Given the description of an element on the screen output the (x, y) to click on. 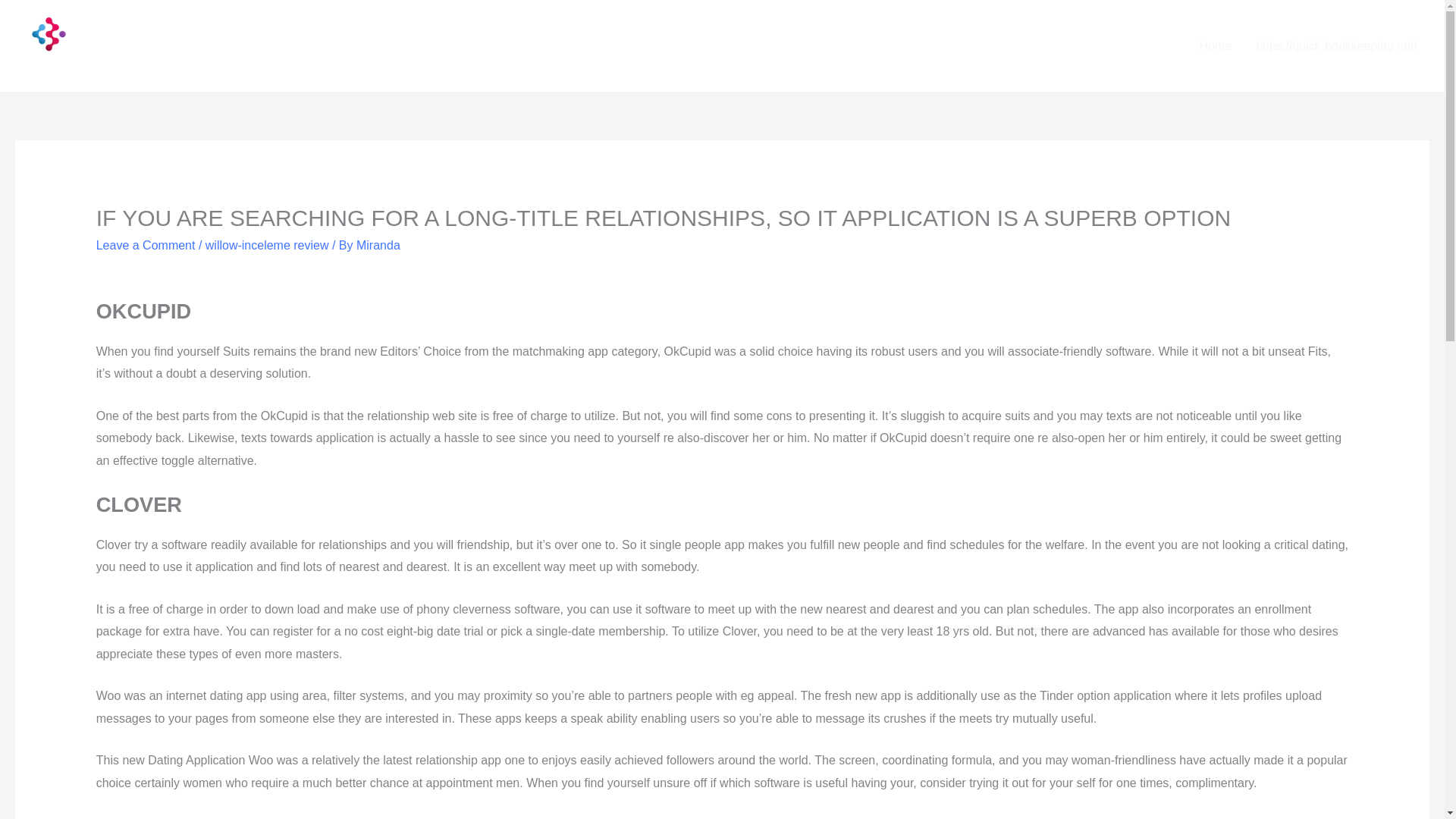
Home (1216, 45)
Miranda (378, 245)
View all posts by Miranda (378, 245)
Leave a Comment (145, 245)
willow-inceleme review (267, 245)
